Given the description of an element on the screen output the (x, y) to click on. 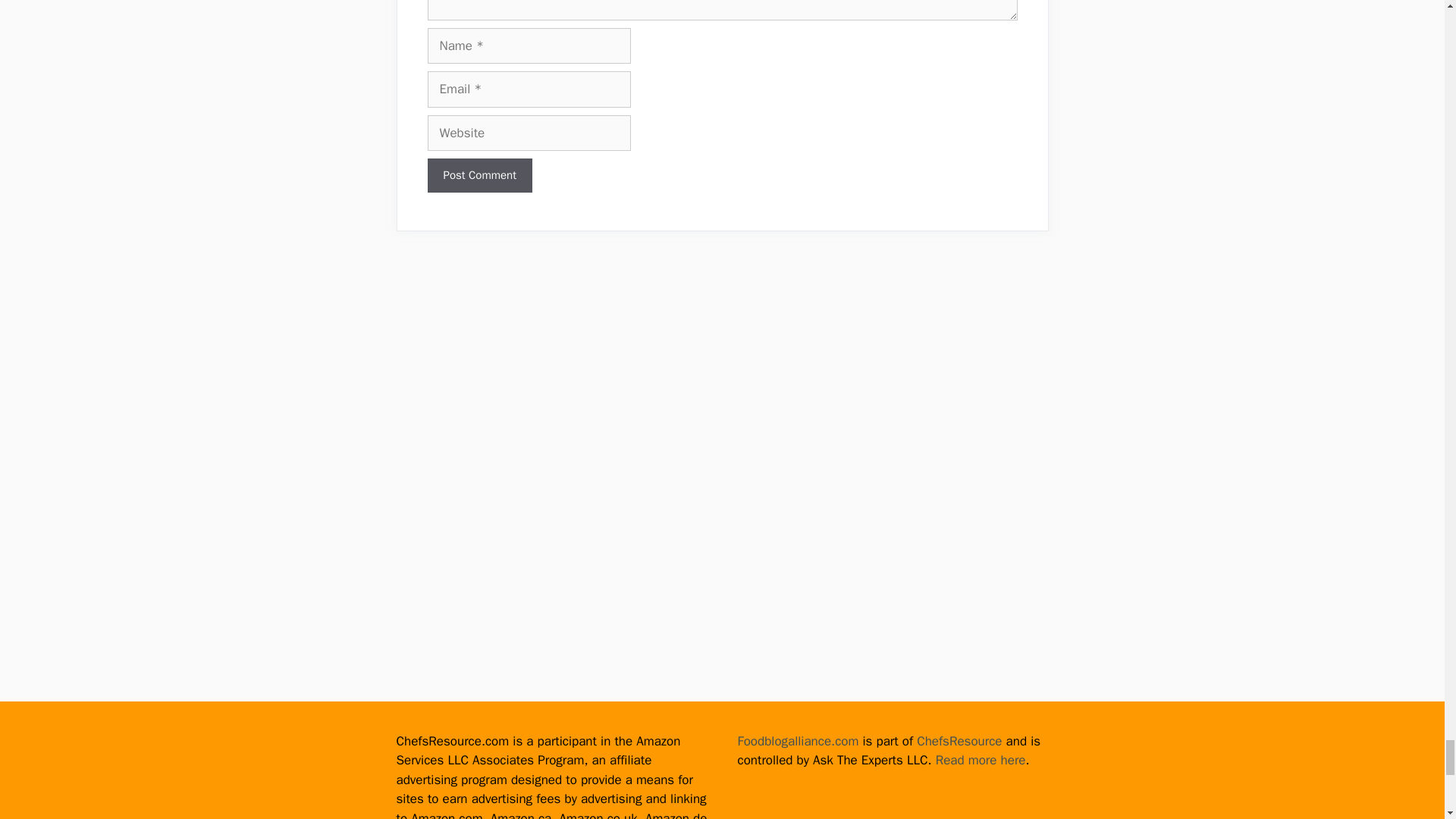
Post Comment (480, 175)
